Given the description of an element on the screen output the (x, y) to click on. 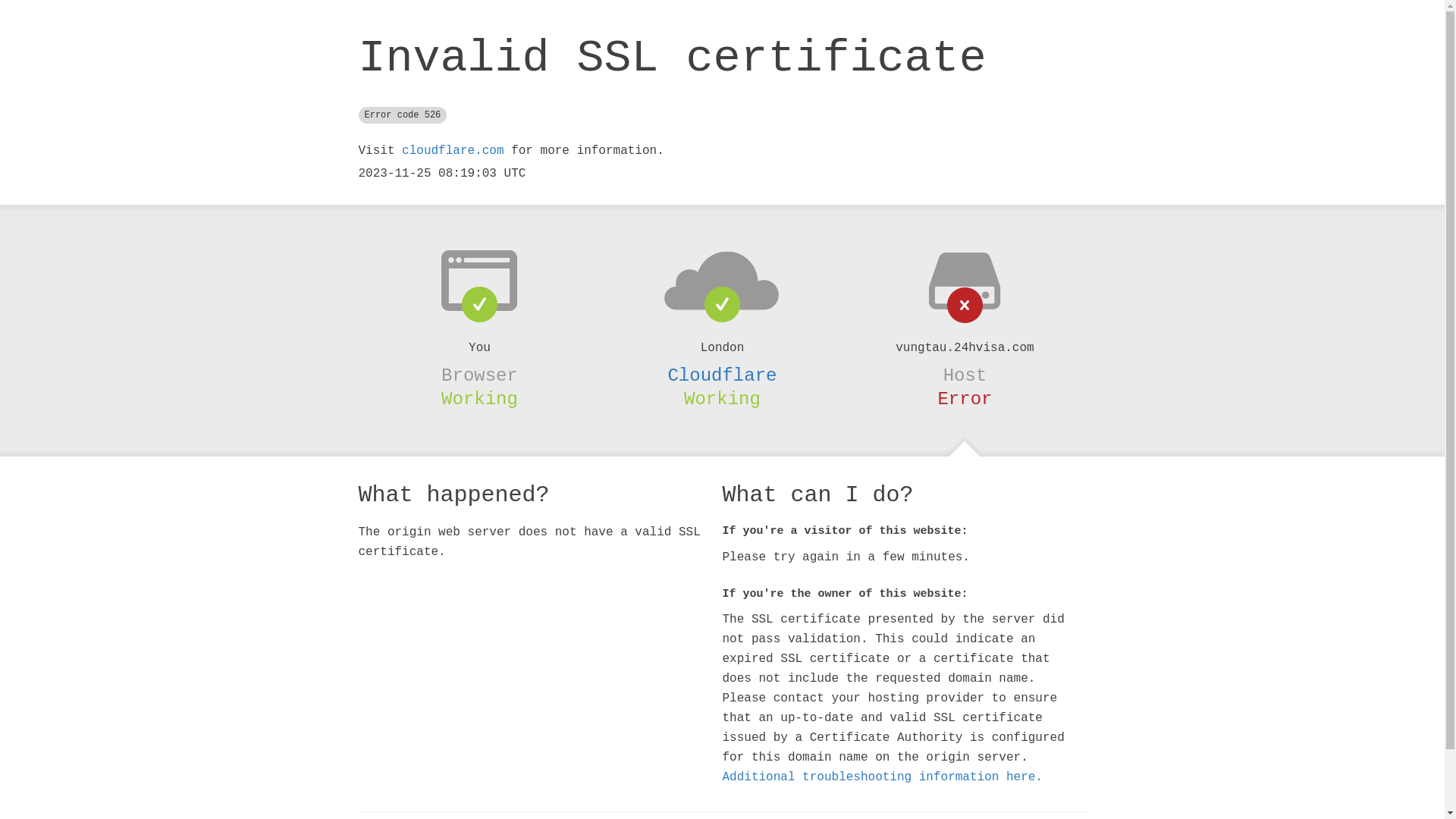
Additional troubleshooting information here. Element type: text (881, 777)
cloudflare.com Element type: text (452, 150)
Cloudflare Element type: text (721, 375)
